Given the description of an element on the screen output the (x, y) to click on. 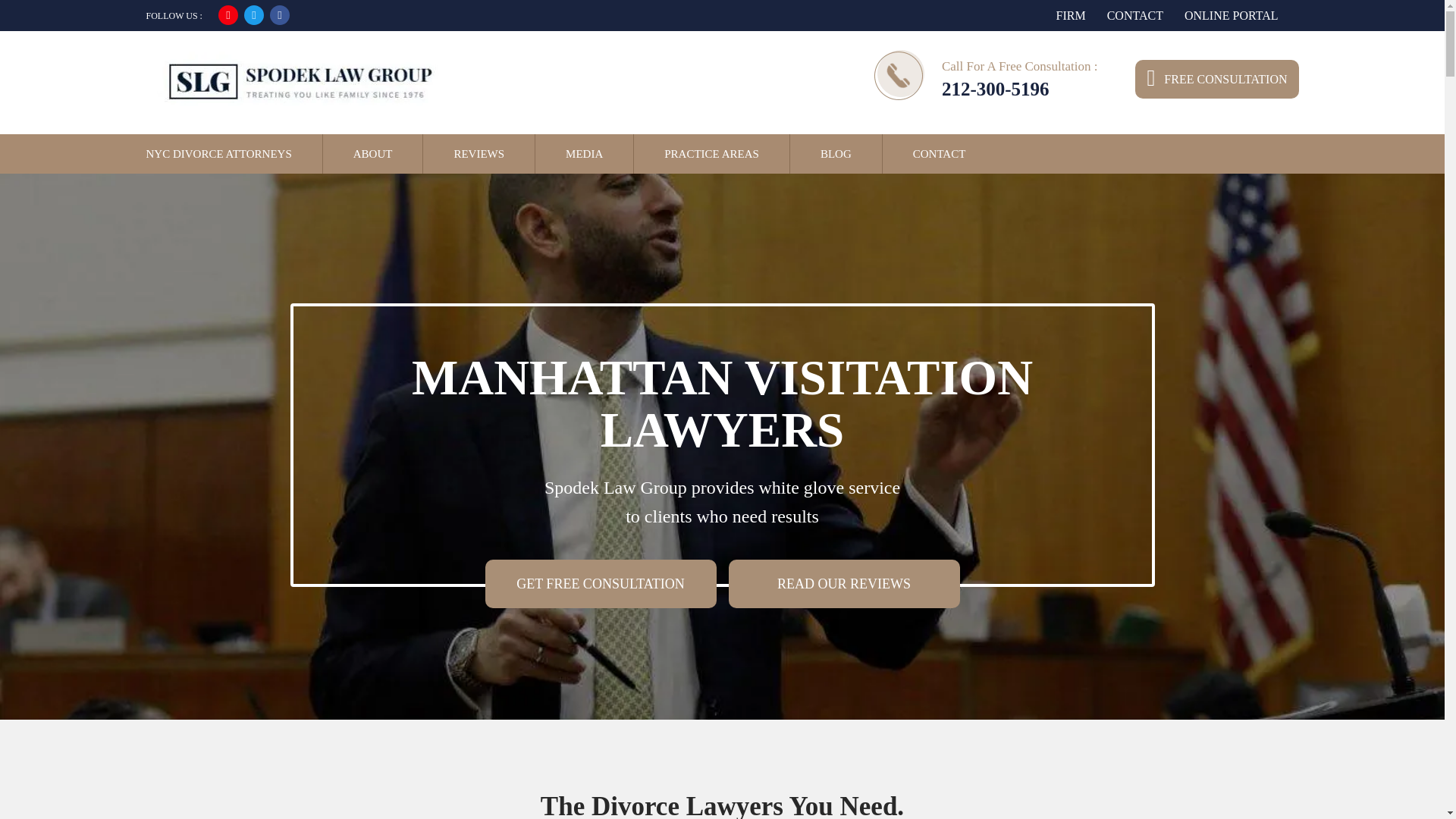
CONTACT (1134, 15)
NYC DIVORCE ATTORNEYS (218, 153)
BLOG (836, 153)
212-300-5196 (995, 88)
FREE CONSULTATION (1216, 77)
PRACTICE AREAS (711, 153)
MEDIA (584, 153)
CONTACT (938, 153)
FIRM (1070, 15)
ABOUT (373, 153)
